Given the description of an element on the screen output the (x, y) to click on. 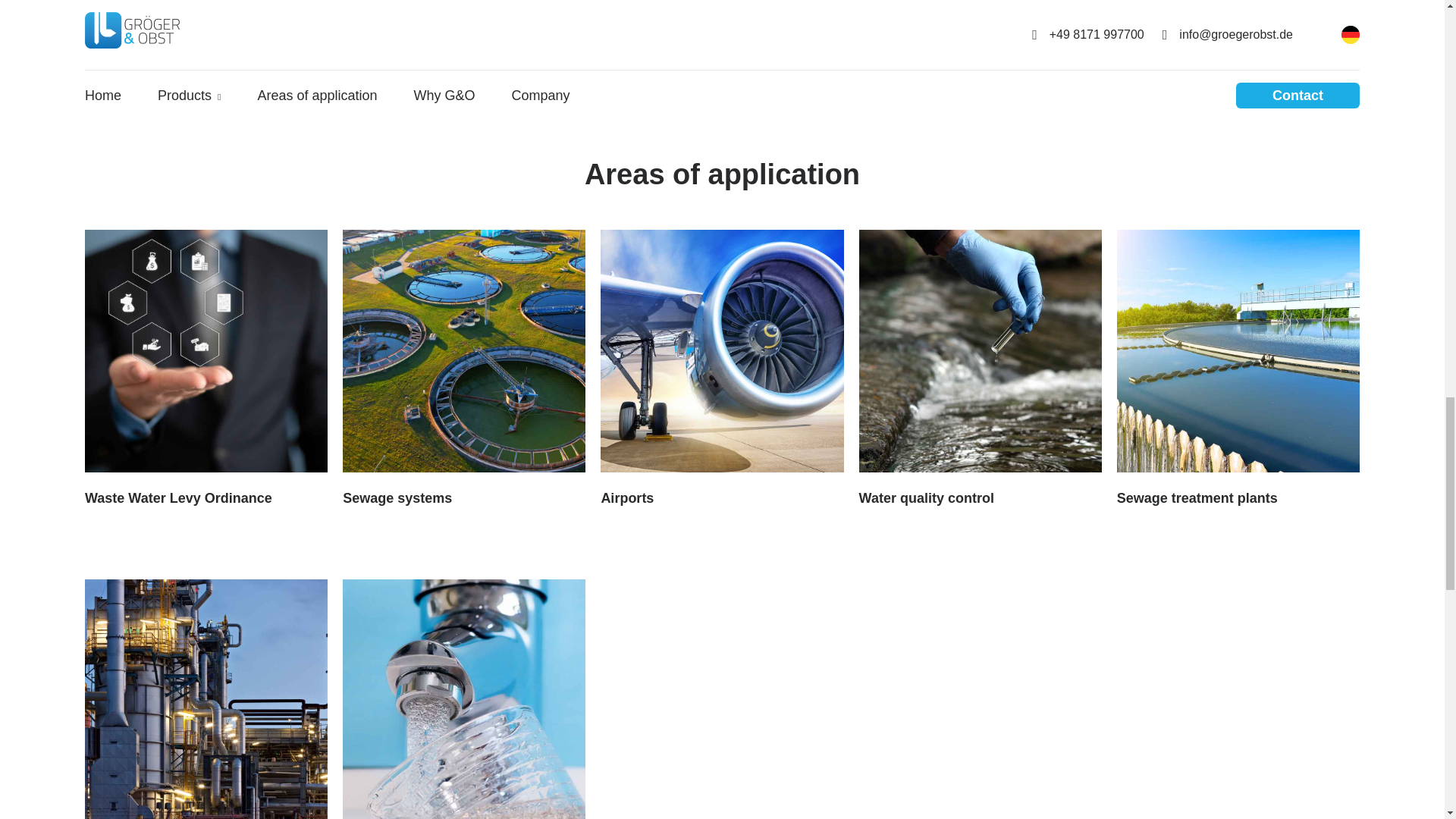
Refineries (205, 699)
Sewage treatment plants (1237, 368)
Waste Water Levy Ordinance (205, 368)
Drinking and process water monitoring (463, 699)
Sewage systems (463, 368)
Water quality control (980, 368)
Airports (721, 368)
